Given the description of an element on the screen output the (x, y) to click on. 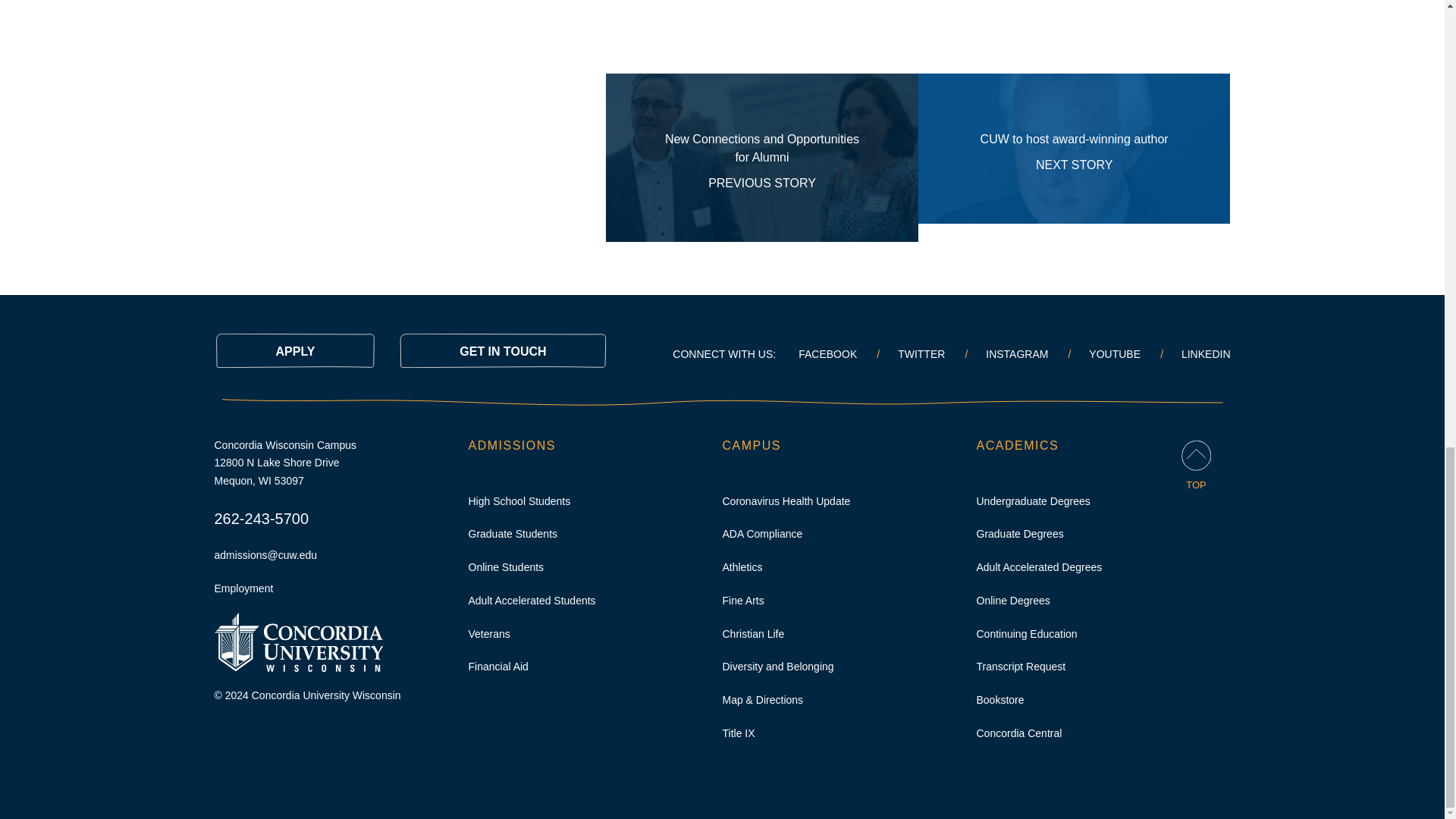
APPLY (761, 157)
TOP (1074, 157)
CUW Home Page (294, 350)
Learn more about ADA Compliance on the CUW Campus. (1195, 466)
